Given the description of an element on the screen output the (x, y) to click on. 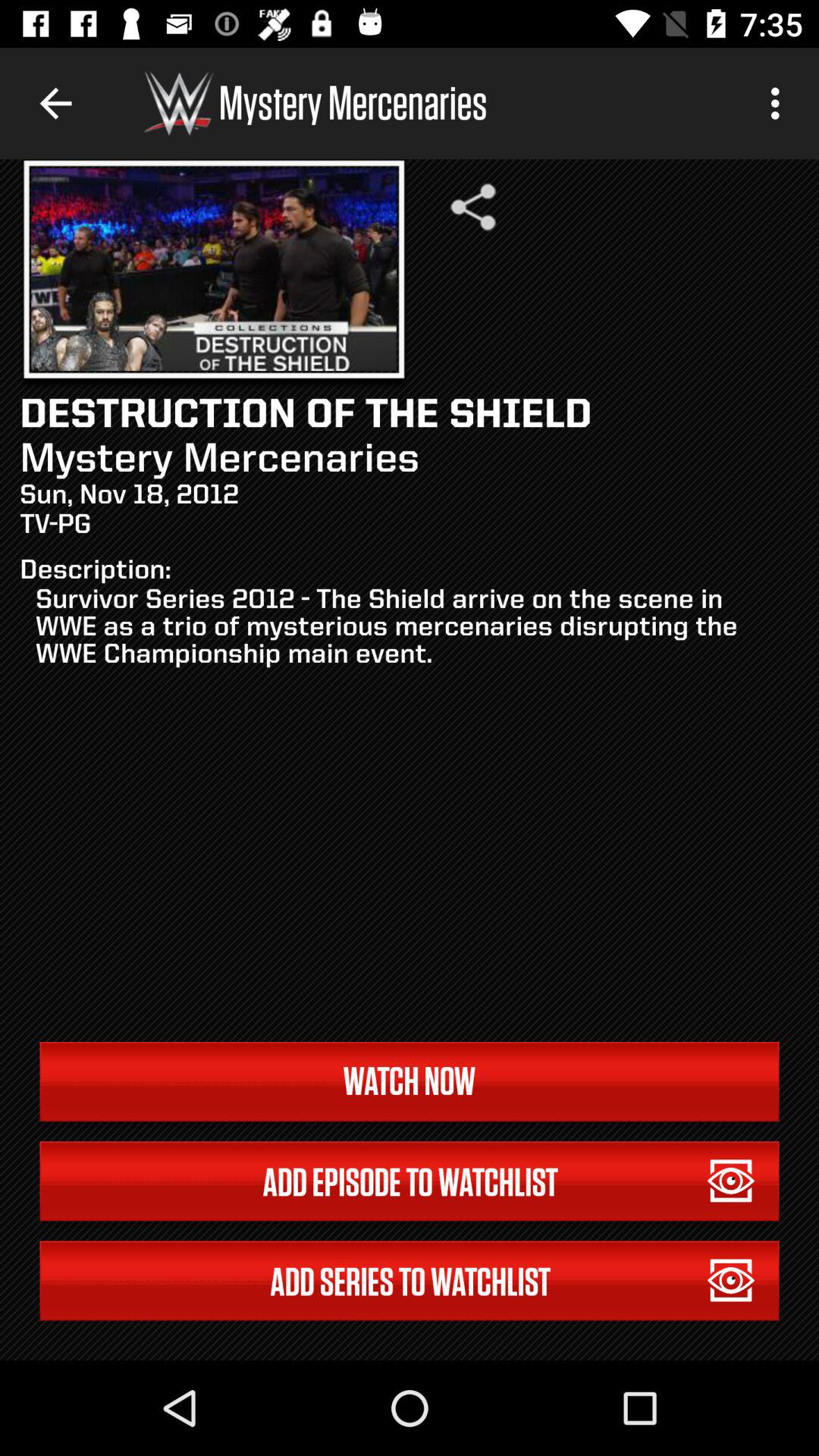
choose item above the survivor series 2012 icon (779, 103)
